Given the description of an element on the screen output the (x, y) to click on. 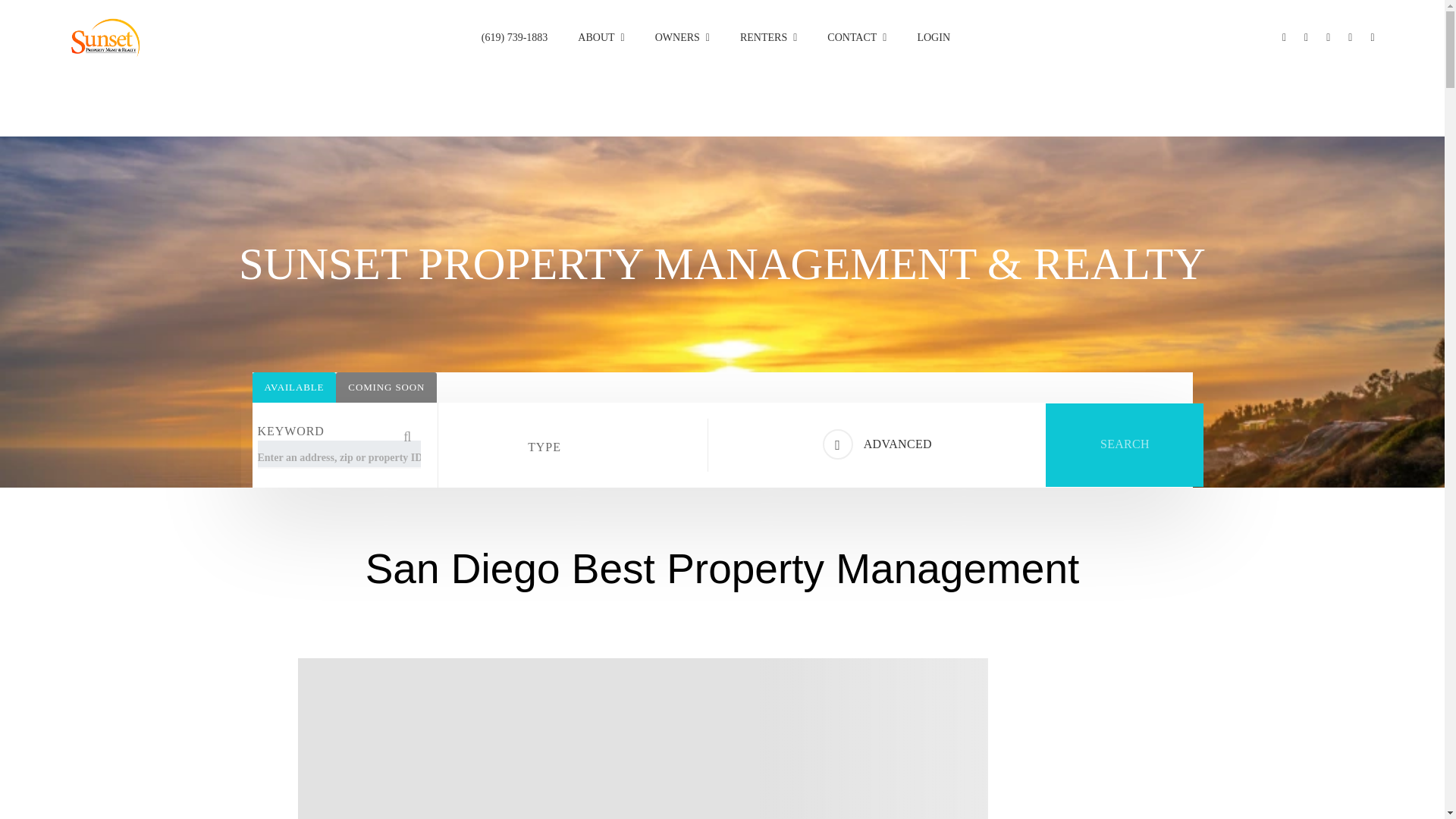
AVAILABLE (293, 387)
COMING SOON (386, 387)
ADVANCED (876, 443)
SEARCH (1124, 443)
